Given the description of an element on the screen output the (x, y) to click on. 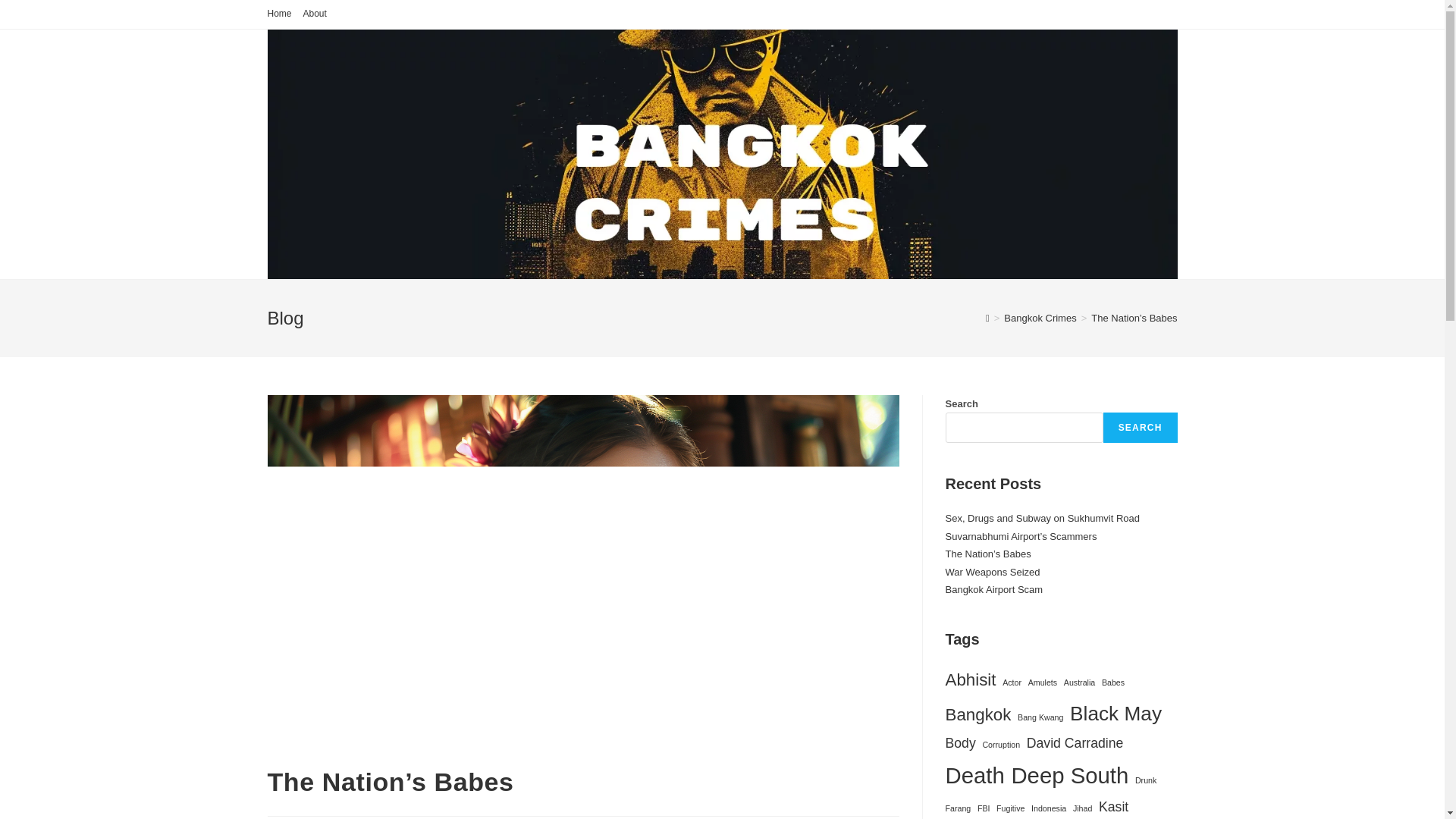
Corruption (1000, 744)
Home (278, 13)
Bangkok Airport Scam (993, 589)
Bangkok Crimes (1039, 317)
SEARCH (1140, 427)
David Carradine (1075, 743)
Bang Kwang (1039, 717)
Babes (1113, 682)
Abhisit (969, 680)
Bangkok (977, 715)
About (314, 13)
Amulets (1042, 682)
Death (974, 775)
War Weapons Seized (991, 572)
Sex, Drugs and Subway on Sukhumvit Road (1042, 518)
